Given the description of an element on the screen output the (x, y) to click on. 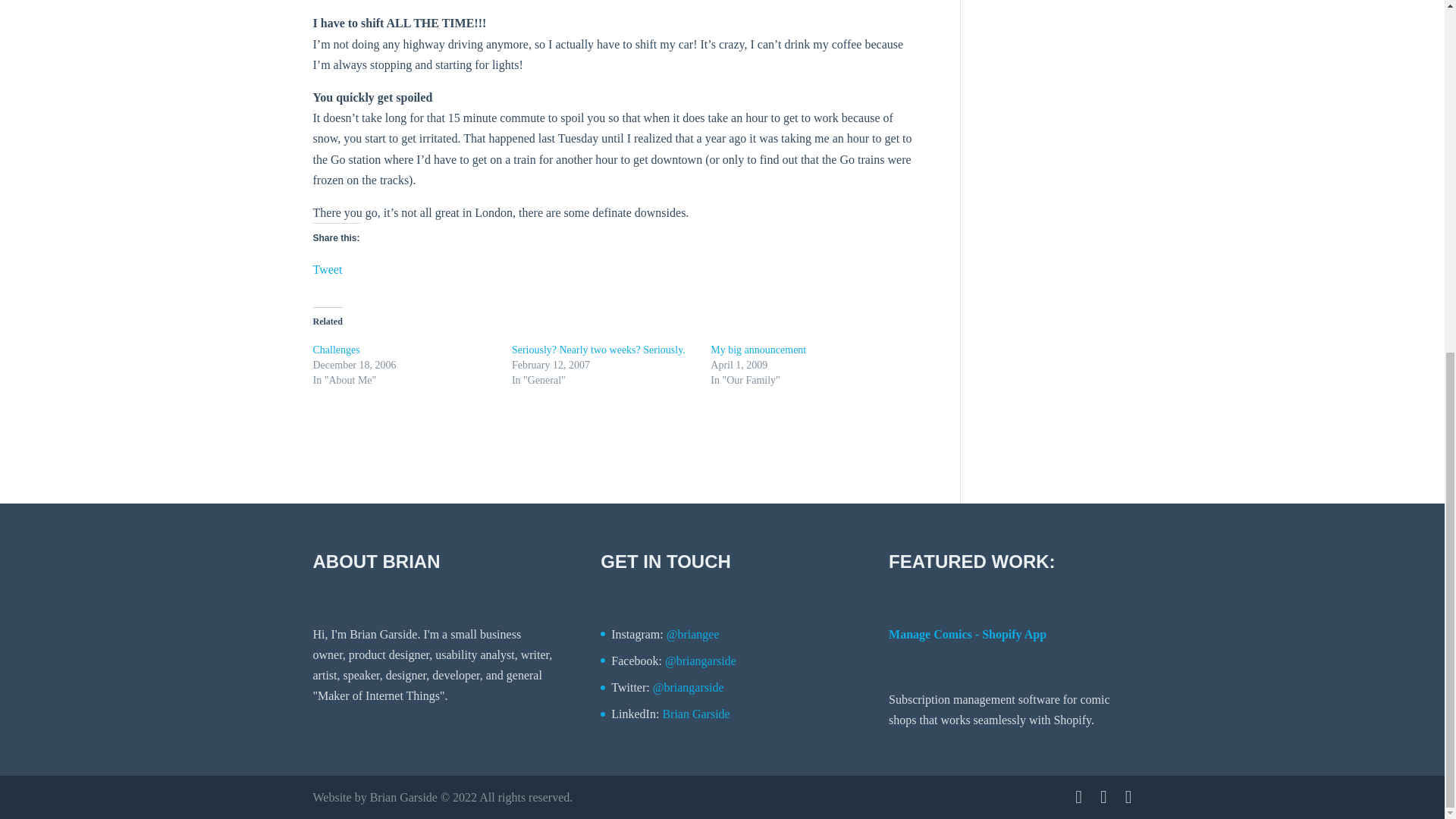
My big announcement (758, 349)
Seriously?  Nearly two weeks?  Seriously. (598, 349)
My big announcement (758, 349)
Challenges (336, 349)
Seriously? Nearly two weeks? Seriously. (598, 349)
Manage Comics - Shopify App (967, 634)
Brian Garside (695, 713)
Challenges (336, 349)
Tweet (327, 266)
